Given the description of an element on the screen output the (x, y) to click on. 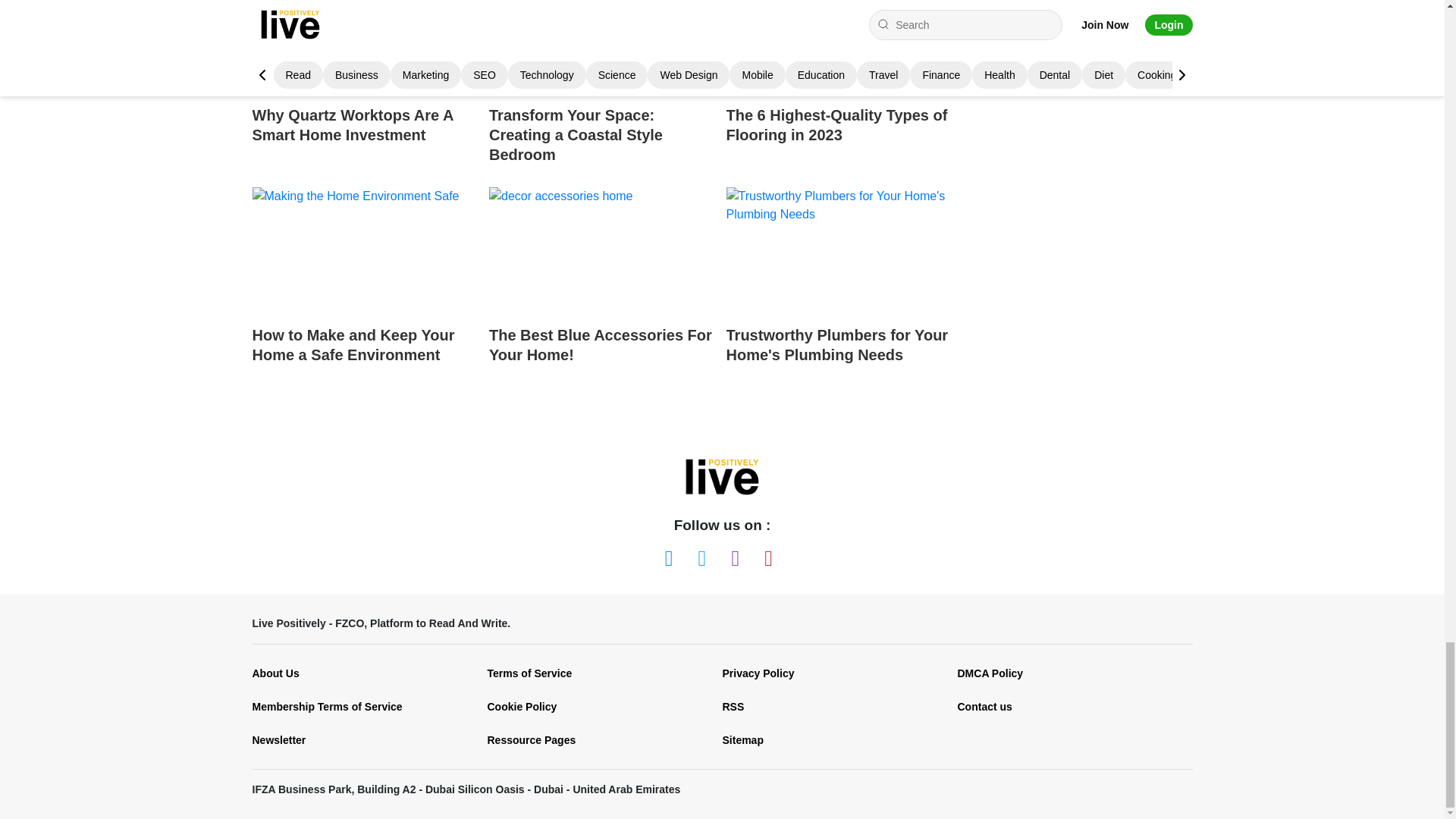
Highest Quality Types (839, 47)
The 6 Highest-Quality Types of Flooring in 2023 (839, 85)
Transform Your Space: Creating a Coastal Style Bedroom (601, 85)
Why Quartz Worktops Are A Smart Home Investment (364, 85)
decor accessories home (601, 250)
Coastal Bedroom Makeover (601, 47)
Trustworthy Plumbers for Your Home's Plumbing Needs (839, 289)
Trustworthy Plumbers for Your Home's Plumbing Needs (839, 250)
How to Make and Keep Your Home a Safe Environment (364, 289)
Making the Home Environment Safe (364, 250)
A Smart Home Investment (364, 47)
The Best Blue Accessories For Your Home! (601, 289)
